Given the description of an element on the screen output the (x, y) to click on. 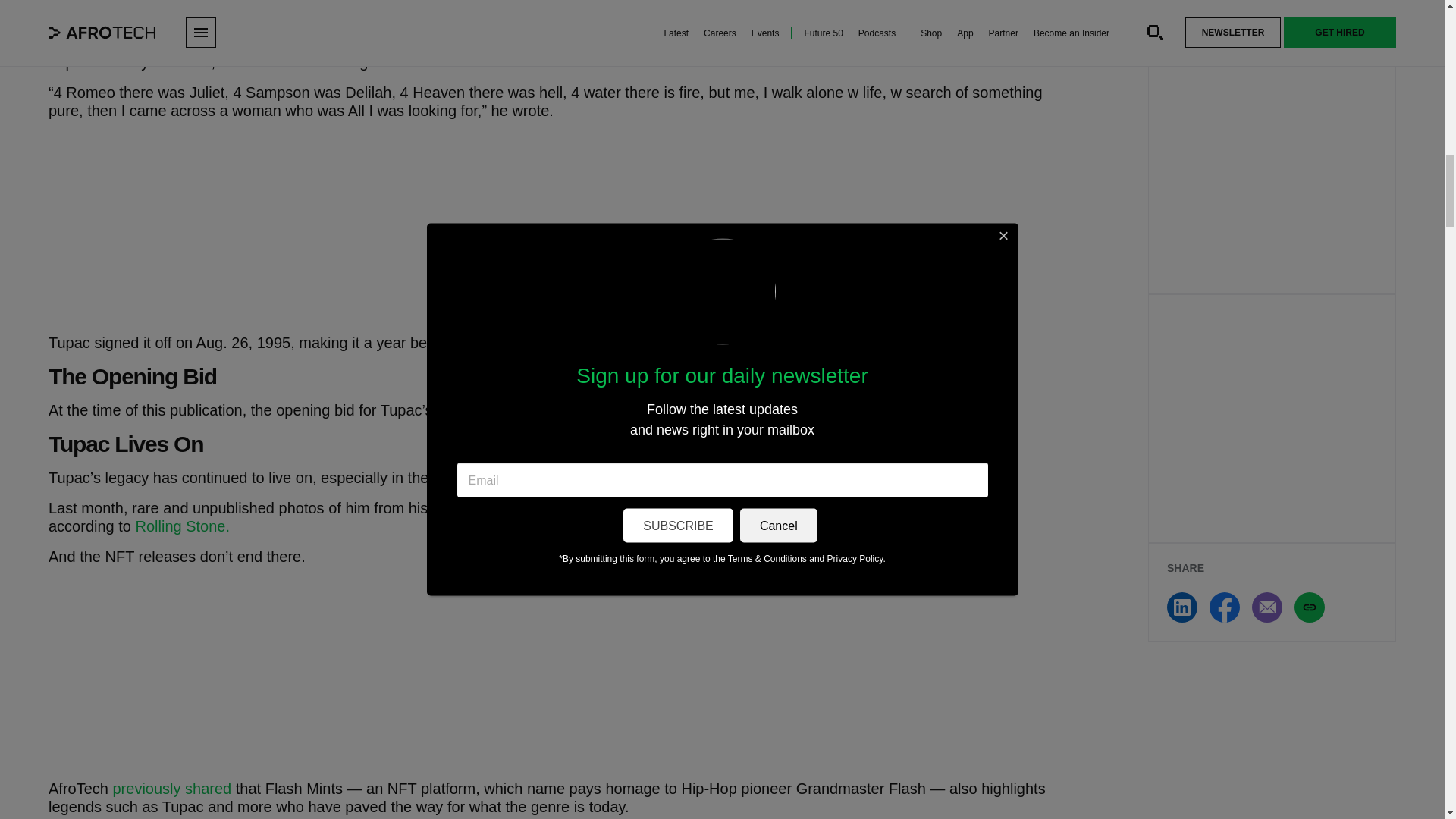
previously shared (171, 788)
Rolling Stone. (182, 525)
